Given the description of an element on the screen output the (x, y) to click on. 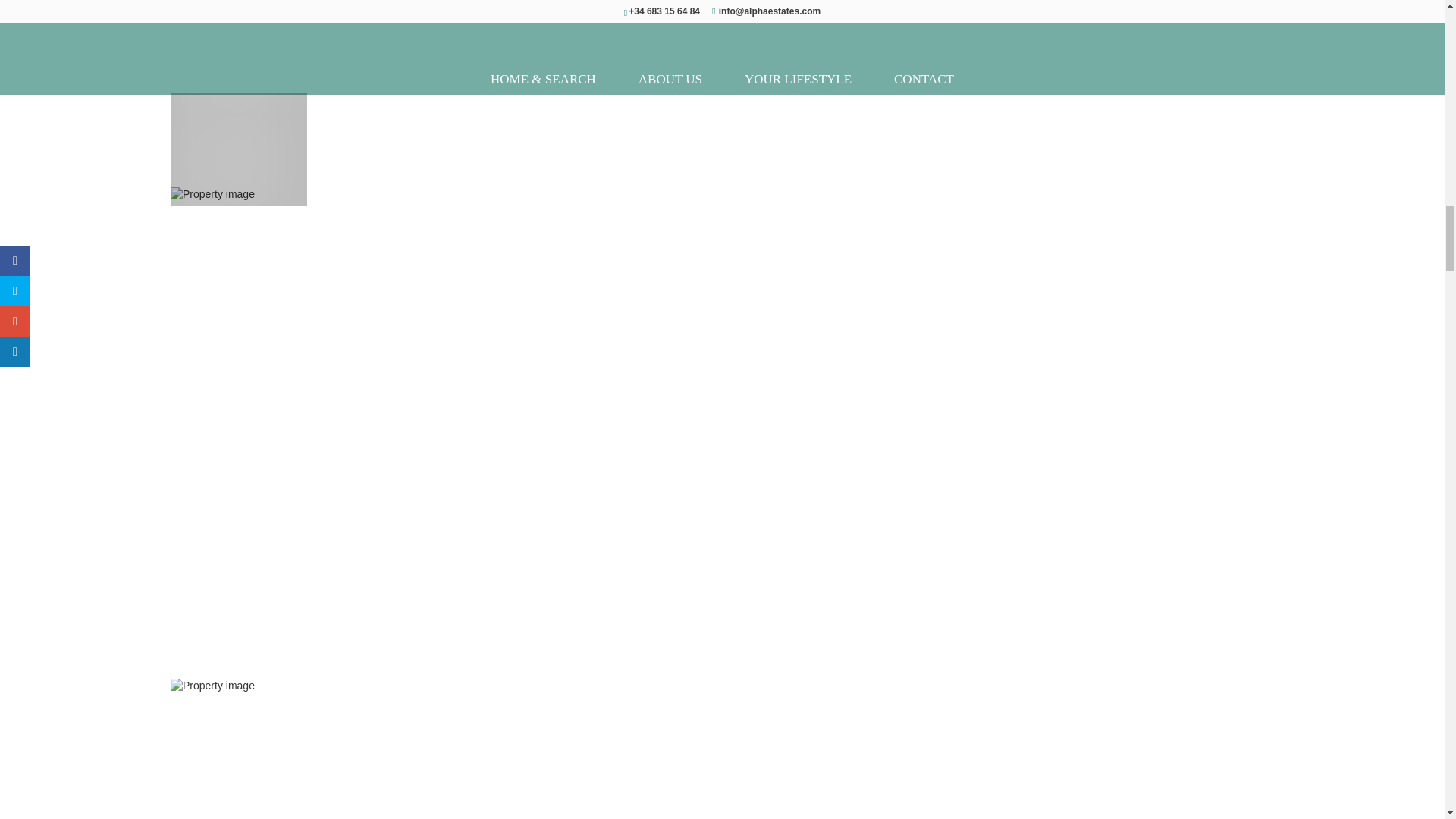
Privacy Policy (973, 75)
Legal Advise (1104, 75)
Blog (912, 75)
Cookies (1039, 75)
